Given the description of an element on the screen output the (x, y) to click on. 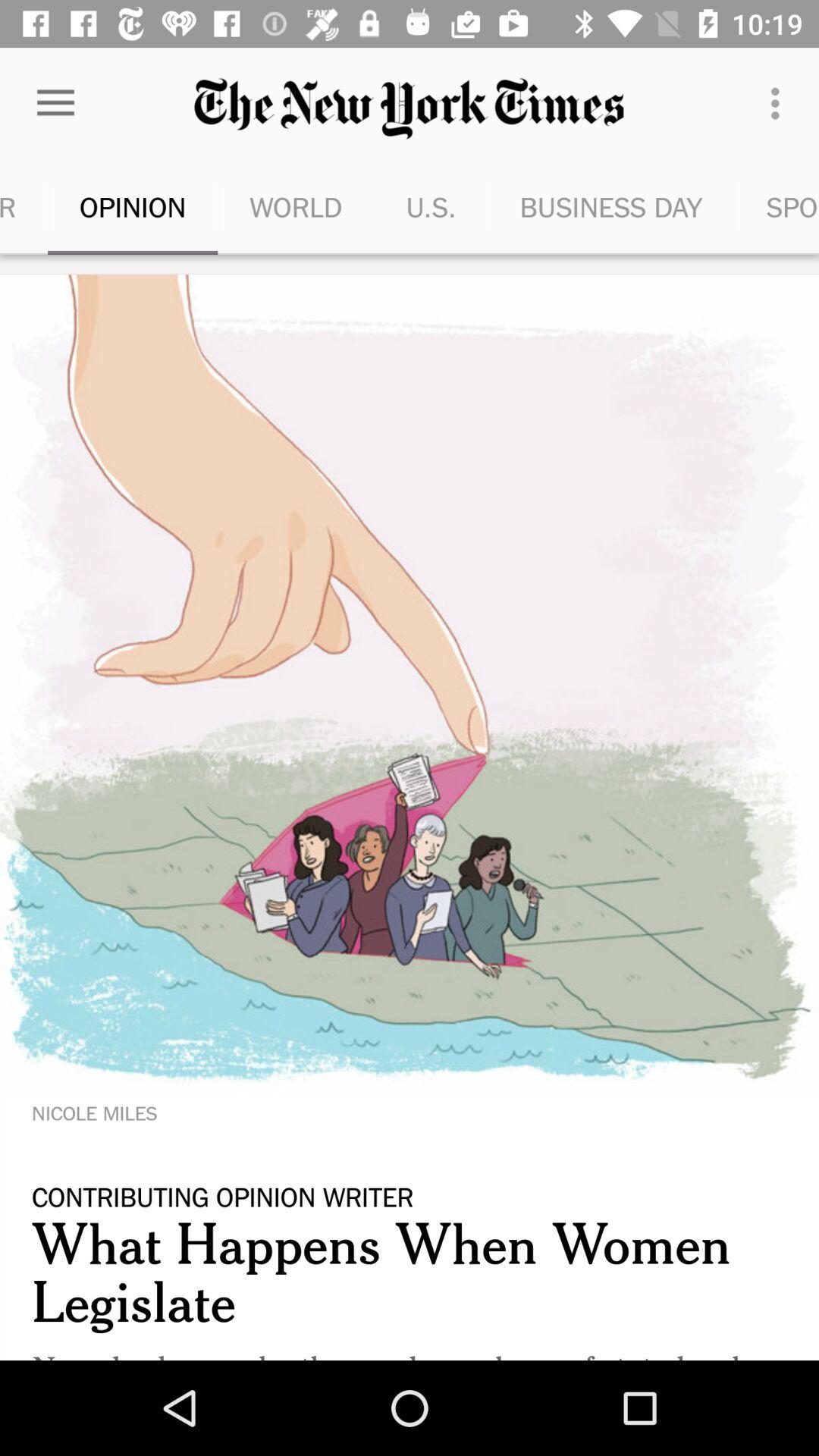
choose the icon to the left of the sports (610, 206)
